Given the description of an element on the screen output the (x, y) to click on. 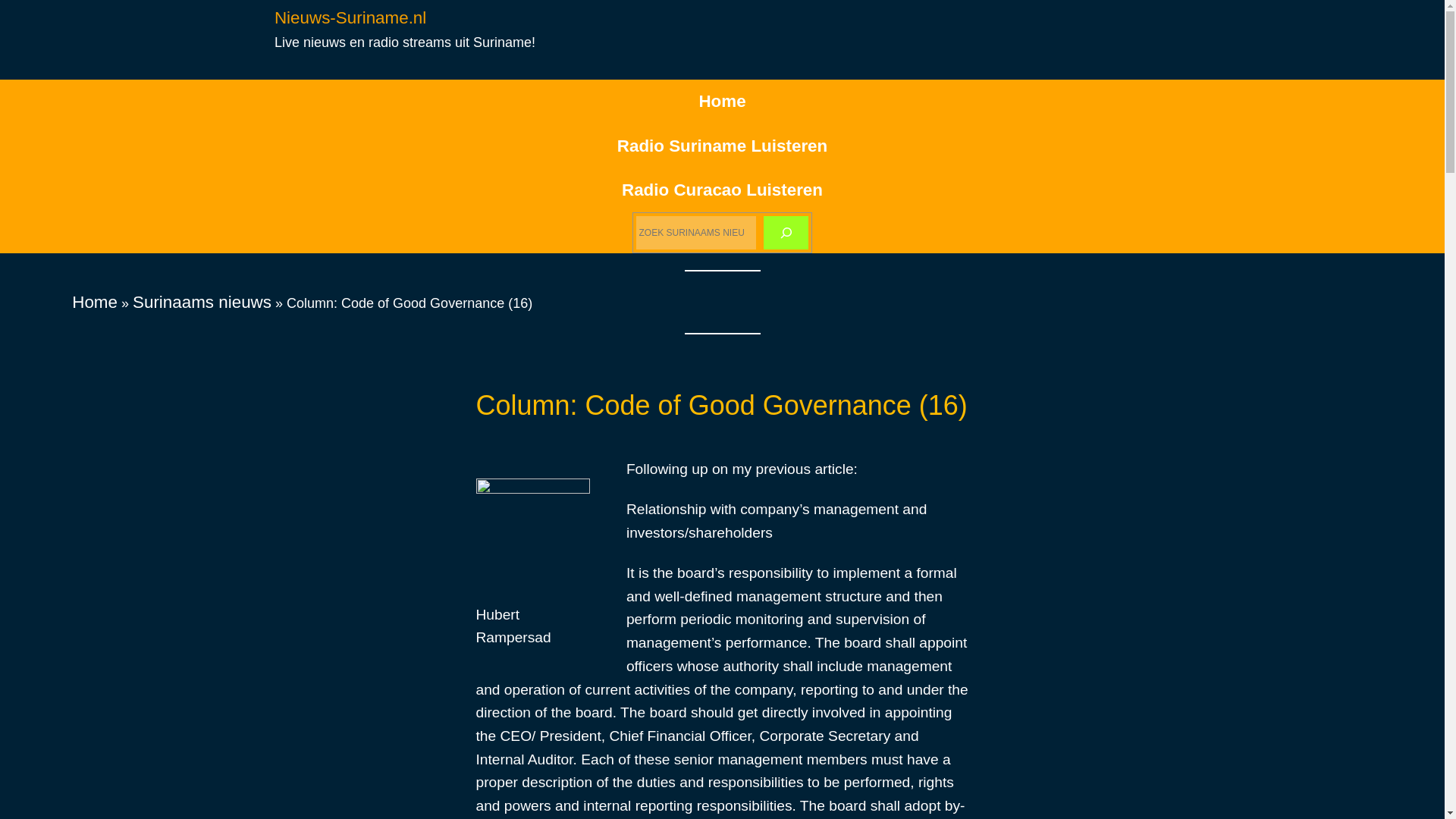
Radio Suriname Luisteren (721, 145)
Surinaams nieuws (201, 302)
Home (721, 101)
Home (94, 302)
Nieuws-Suriname.nl (350, 17)
Radio Curacao Luisteren (722, 190)
Radio Curacao live online stream (722, 190)
Home (94, 302)
Surinaams nieuws (201, 302)
rampersad hubert (532, 531)
